Given the description of an element on the screen output the (x, y) to click on. 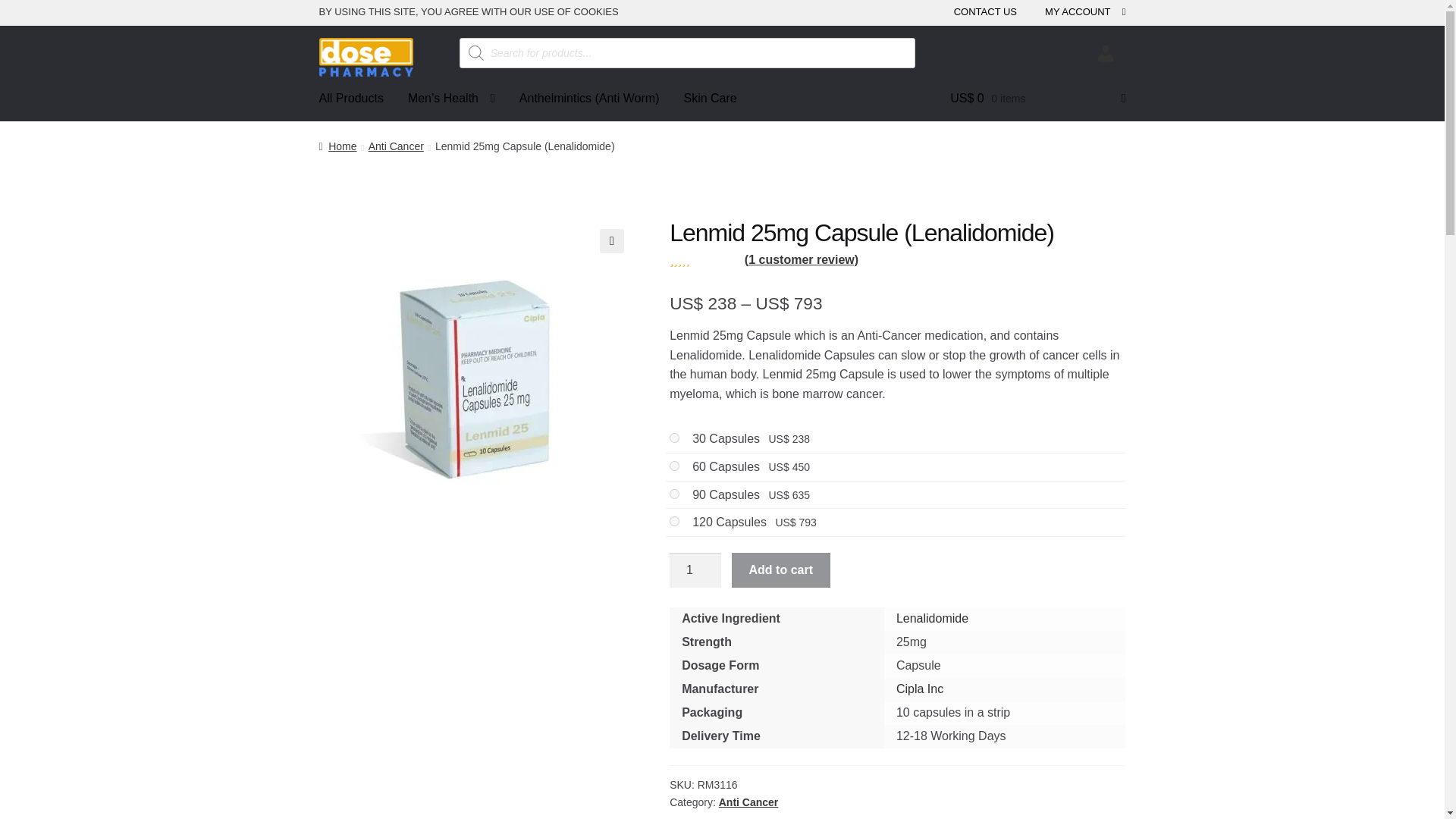
1 (694, 570)
My Account (1105, 56)
Lenalidomide (932, 617)
Add to cart (780, 570)
Cipla Inc (919, 688)
on (674, 438)
Anti Cancer (748, 802)
lenmid-25.jpg (476, 375)
Anti Cancer (395, 146)
View your shopping cart (1037, 98)
on (674, 521)
Home (337, 146)
MY ACCOUNT (1082, 13)
on (674, 465)
CONTACT US (985, 13)
